Given the description of an element on the screen output the (x, y) to click on. 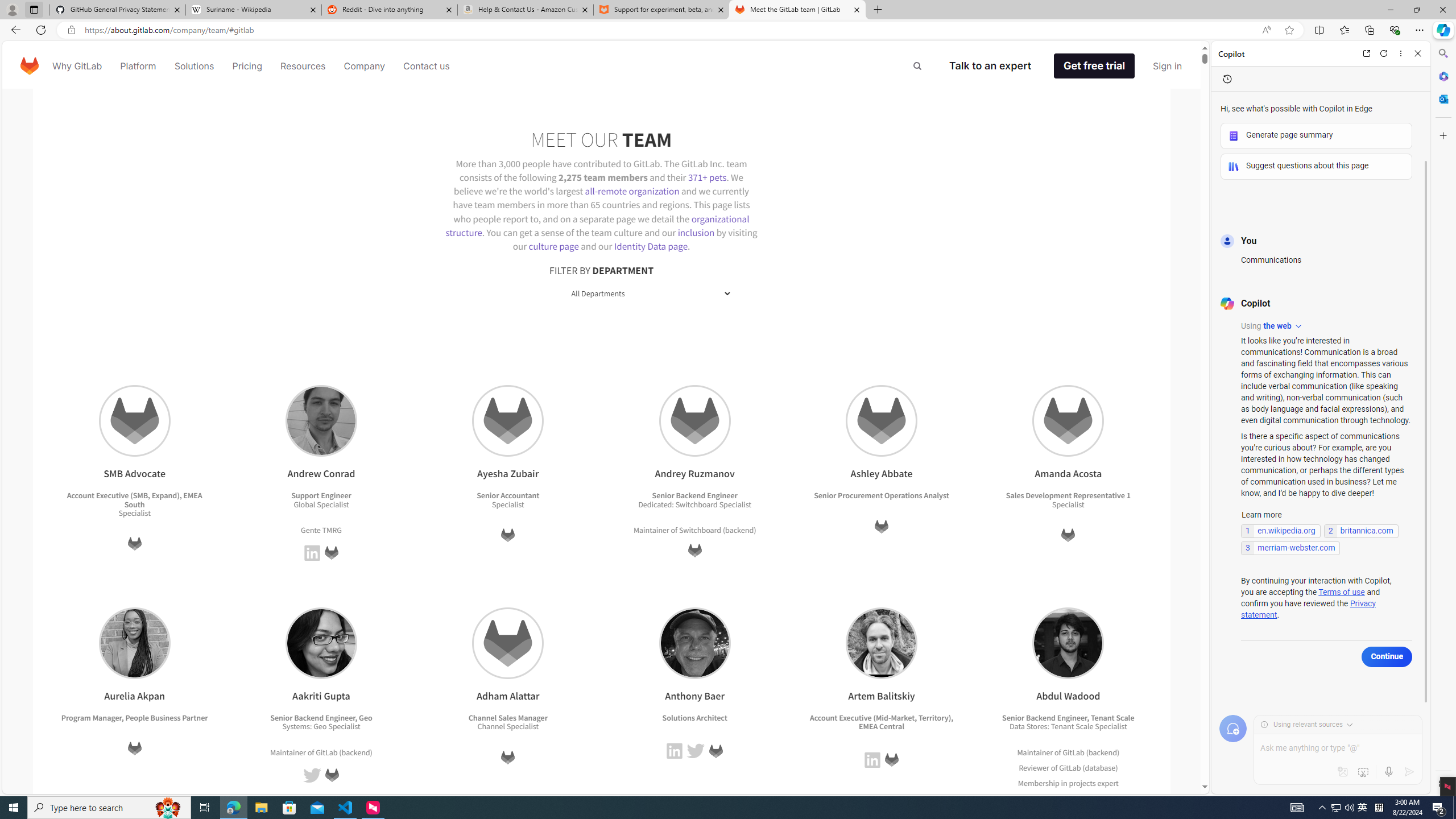
GitHub General Privacy Statement - GitHub Docs (117, 9)
Artem Balitskiy (880, 642)
Membership in groups (1056, 797)
all-remote organization (632, 191)
Company (364, 65)
Solutions Architect (695, 717)
inclusion (695, 232)
Pricing (246, 65)
Contact us (426, 65)
